Given the description of an element on the screen output the (x, y) to click on. 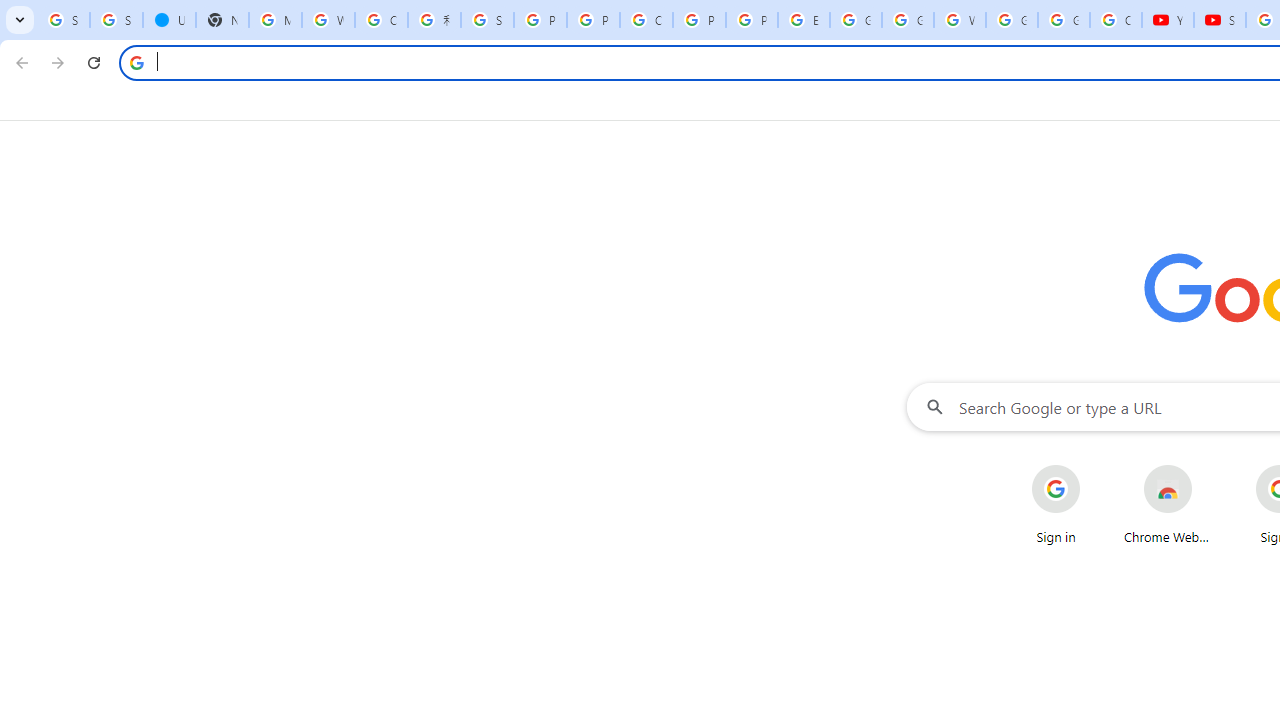
More actions for Sign in shortcut (1095, 466)
Create your Google Account (381, 20)
Chrome Web Store (1167, 504)
More actions for Chrome Web Store shortcut (1208, 466)
Sign in - Google Accounts (116, 20)
Welcome to My Activity (959, 20)
Sign in - Google Accounts (487, 20)
Google Account (1064, 20)
